Given the description of an element on the screen output the (x, y) to click on. 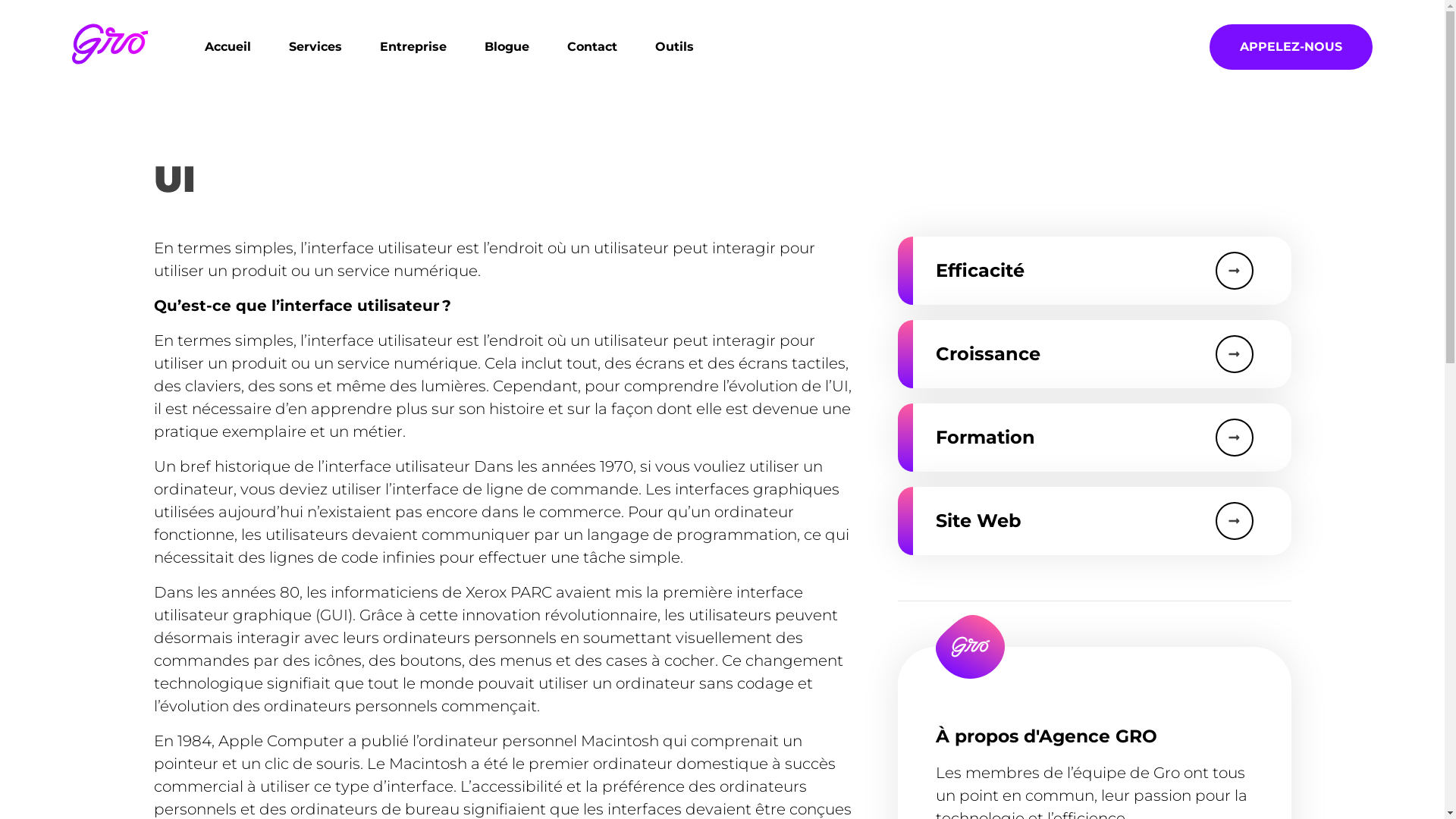
APPELEZ-NOUS Element type: text (1290, 46)
Croissance Element type: text (1093, 354)
Formation Element type: text (1093, 437)
Contact Element type: text (592, 46)
Services Element type: text (314, 46)
Outils Element type: text (674, 46)
Site Web Element type: text (1093, 520)
Blogue Element type: text (506, 46)
Accueil Element type: text (227, 46)
Entreprise Element type: text (412, 46)
